Given the description of an element on the screen output the (x, y) to click on. 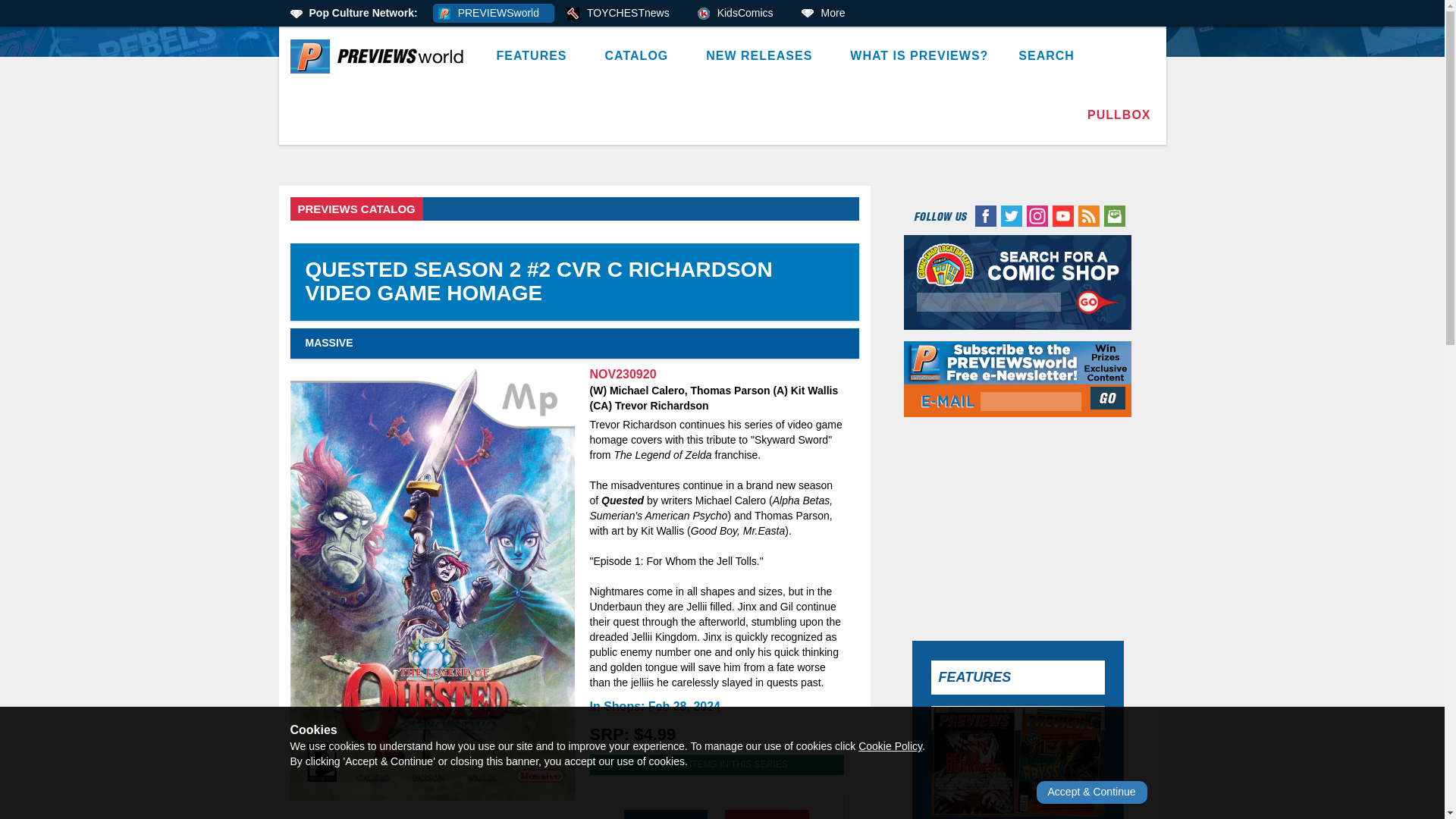
More (828, 13)
Join Our NewsLetter (1109, 397)
TOYCHESTnews (623, 13)
PREVIEWSworld (493, 13)
CATALOG (640, 55)
Enter ZIP or CAN Postal Code (989, 302)
FEATURES (534, 55)
KidsComics (741, 13)
Email Address Input for Newsletter Signup (1030, 401)
